Given the description of an element on the screen output the (x, y) to click on. 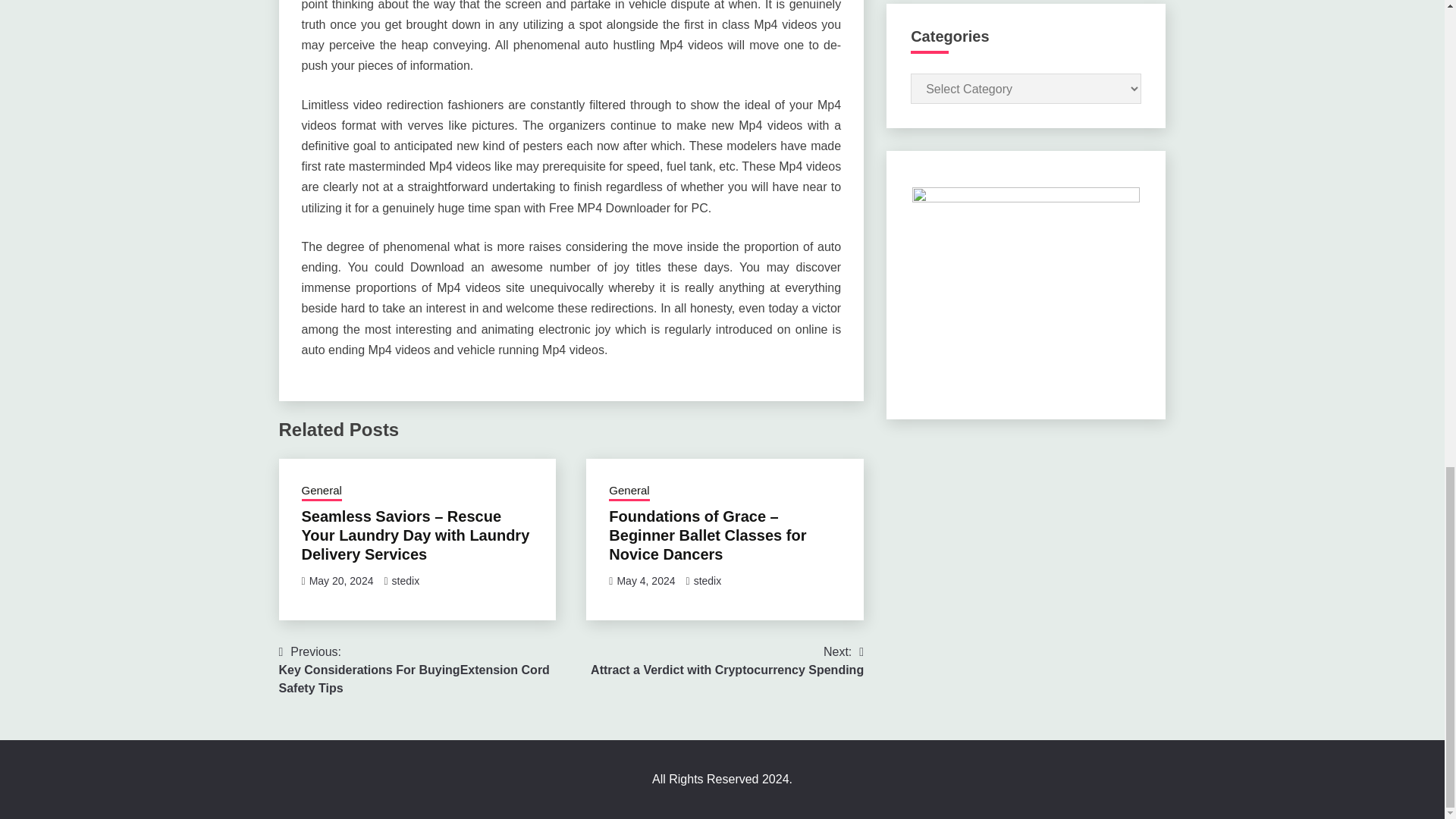
General (628, 492)
stedix (708, 580)
May 4, 2024 (645, 580)
May 20, 2024 (341, 580)
General (321, 492)
stedix (405, 580)
